Given the description of an element on the screen output the (x, y) to click on. 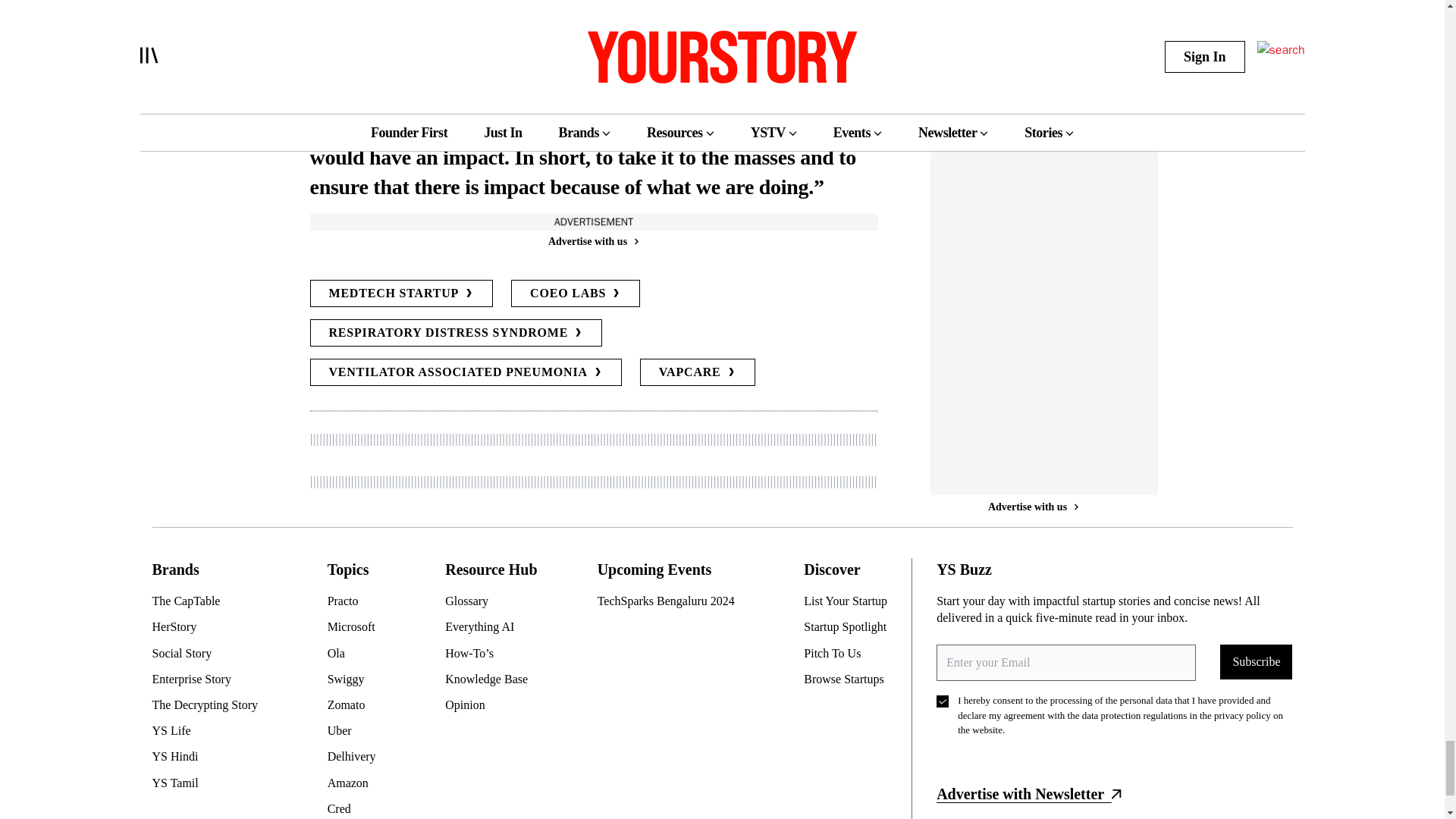
MEDTECH STARTUP (400, 293)
VAPCARE (697, 371)
COEO LABS (575, 293)
The CapTable (210, 600)
RESPIRATORY DISTRESS SYNDROME (455, 332)
VENTILATOR ASSOCIATED PNEUMONIA (464, 371)
Advertise with us (592, 241)
